Given the description of an element on the screen output the (x, y) to click on. 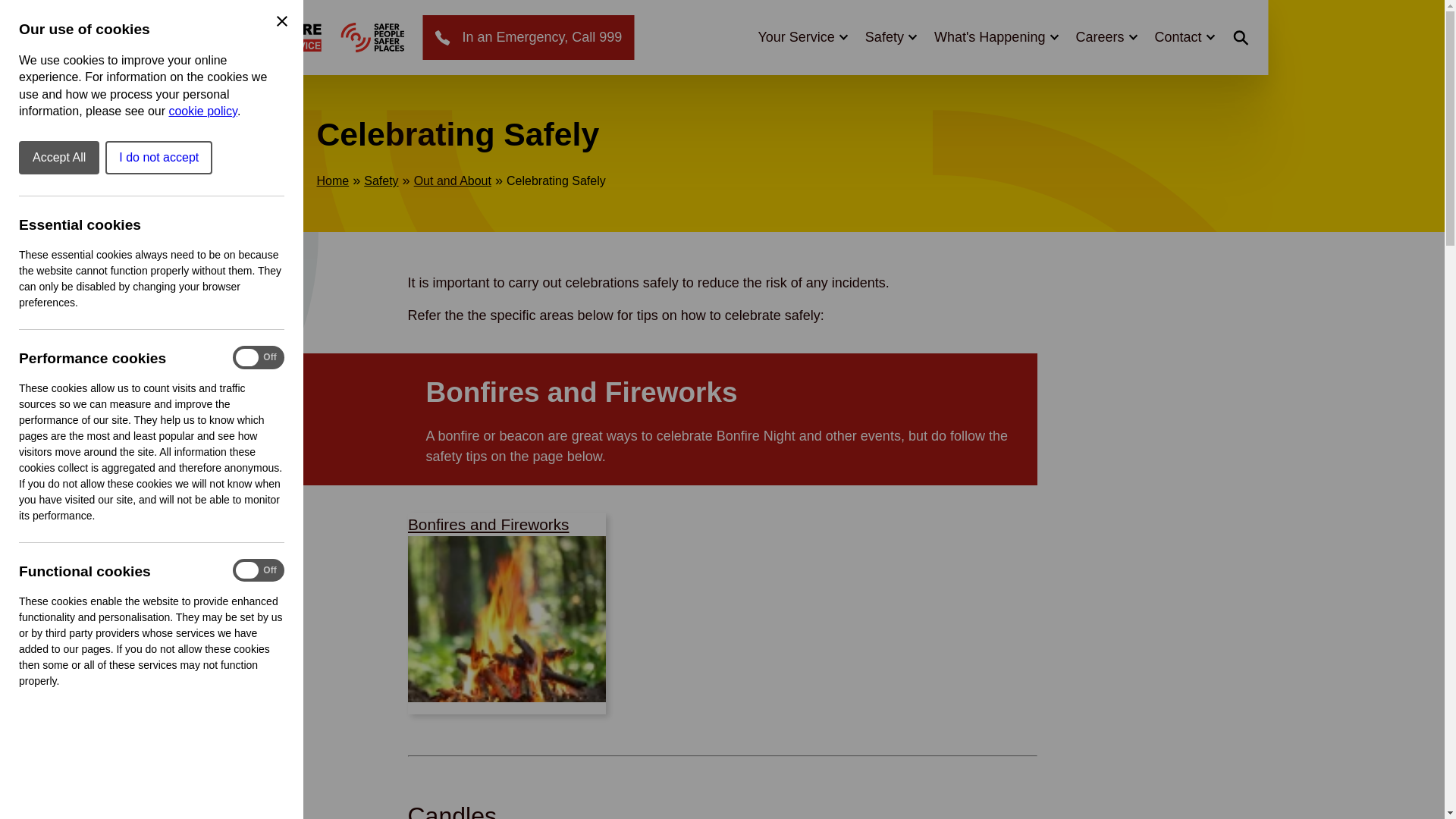
Contact (1183, 37)
Accept All (58, 157)
A (371, 37)
cookie policy (201, 110)
Careers (1105, 37)
Toggle Search (1240, 37)
Safety (889, 37)
What's Happening (996, 37)
Search (1143, 59)
Your Service (801, 37)
I do not accept (158, 157)
